Given the description of an element on the screen output the (x, y) to click on. 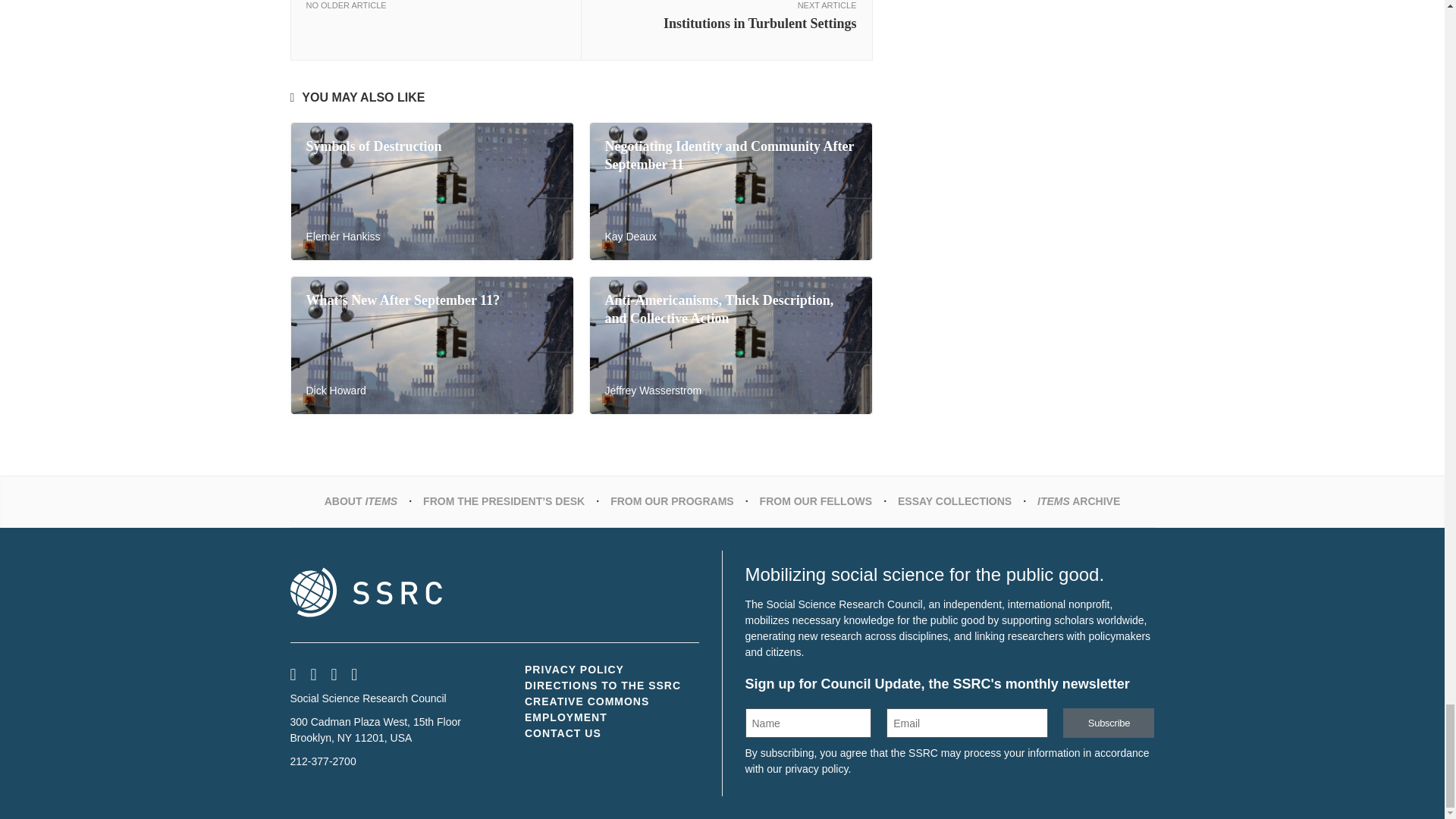
Negotiating Identity and Community After September 11 (729, 154)
Subscribe (1108, 722)
Symbols of Destruction (373, 145)
